Given the description of an element on the screen output the (x, y) to click on. 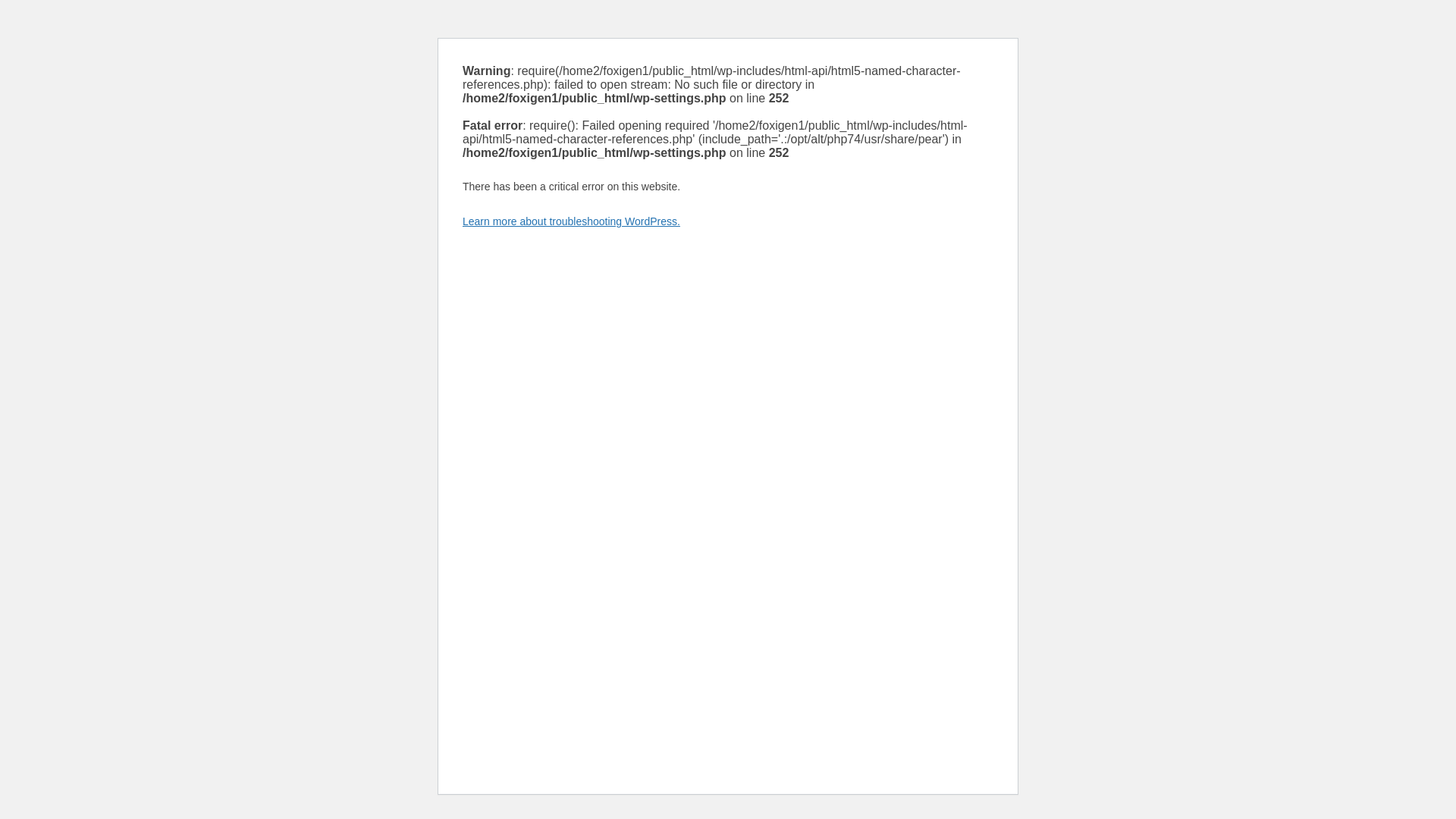
Learn more about troubleshooting WordPress. (571, 221)
